Given the description of an element on the screen output the (x, y) to click on. 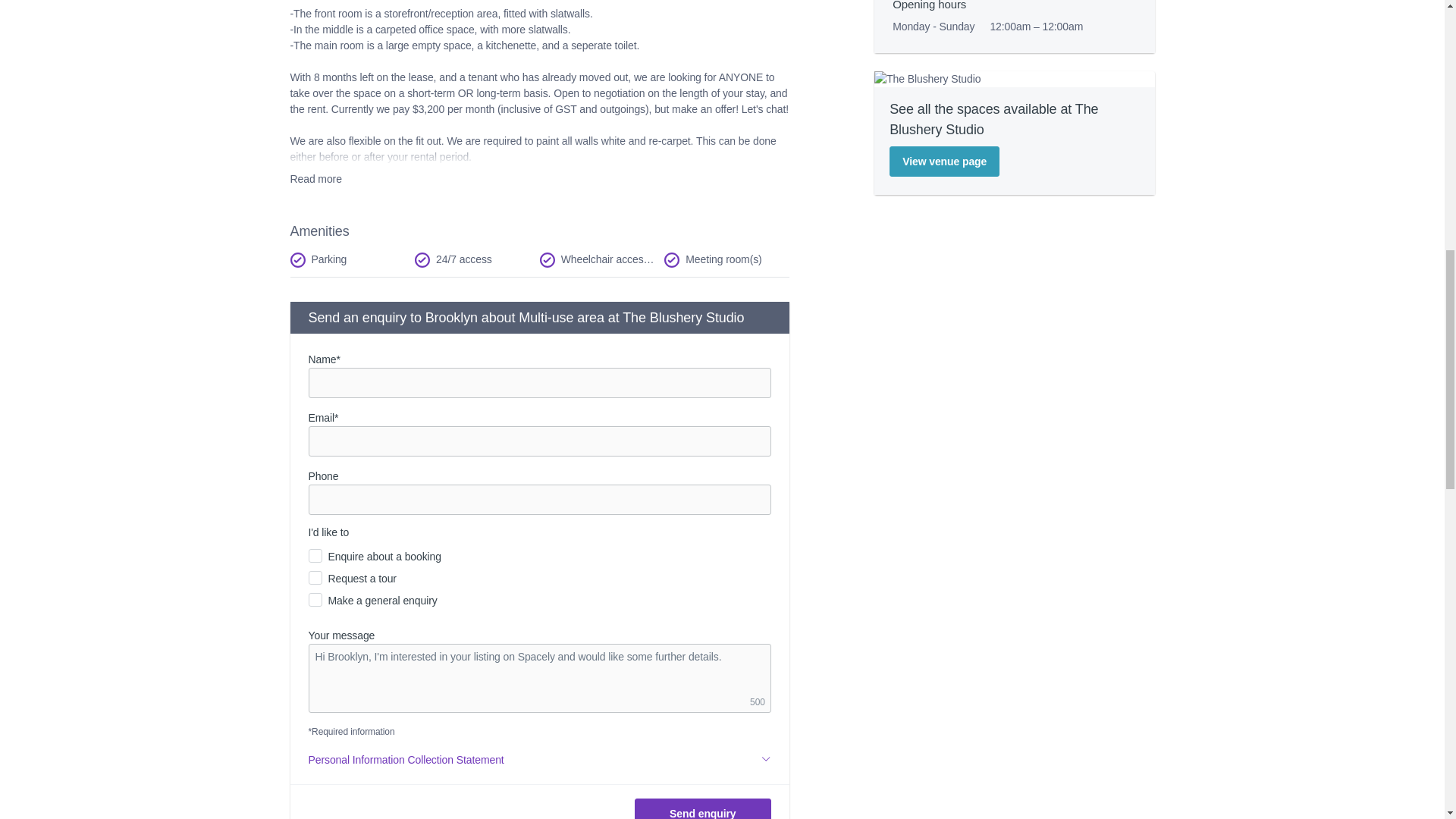
Wheelchair accessible (602, 259)
Parking (351, 259)
